Given the description of an element on the screen output the (x, y) to click on. 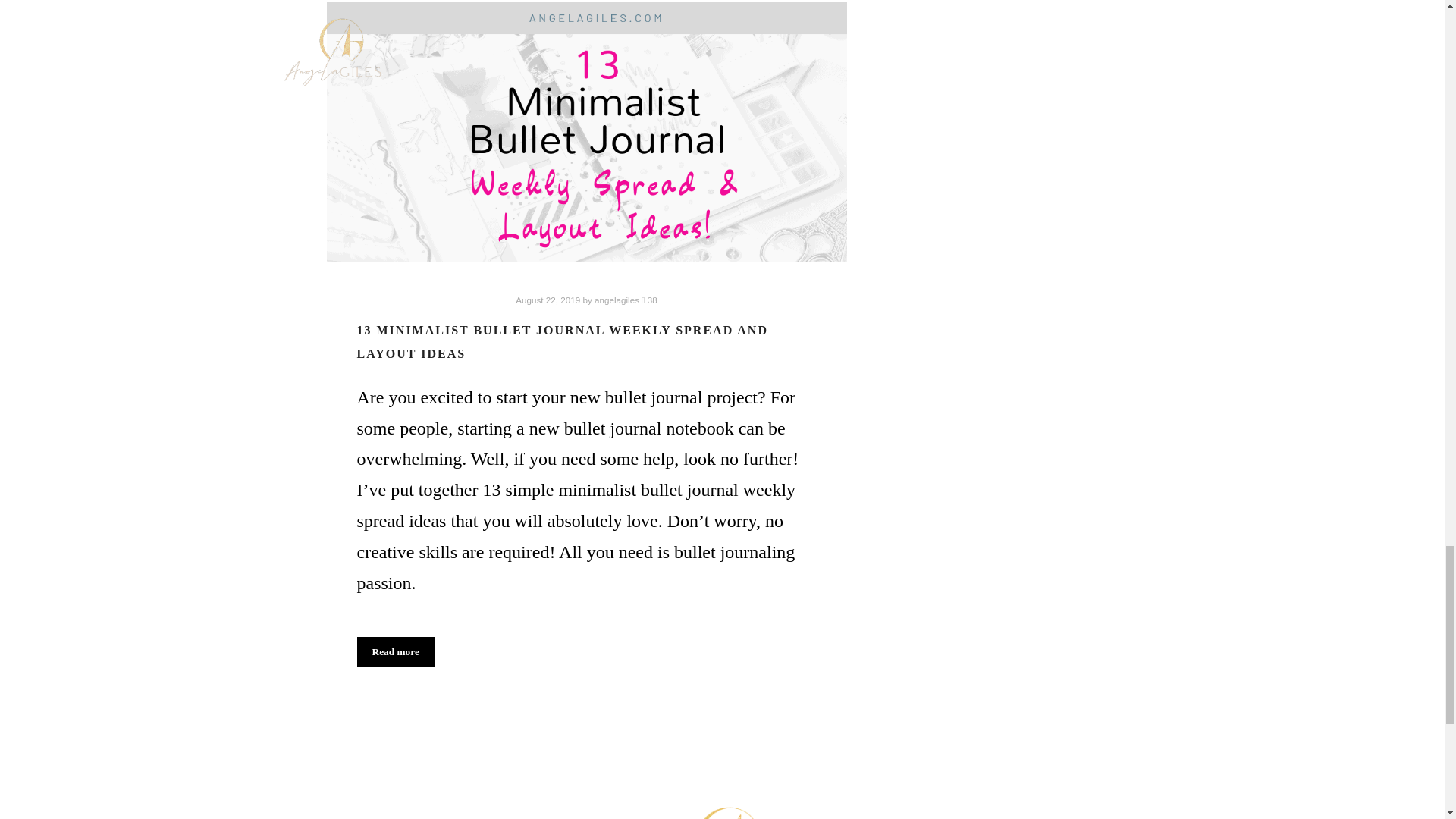
View all posts by angelagiles (616, 299)
angelagiles (616, 299)
